Given the description of an element on the screen output the (x, y) to click on. 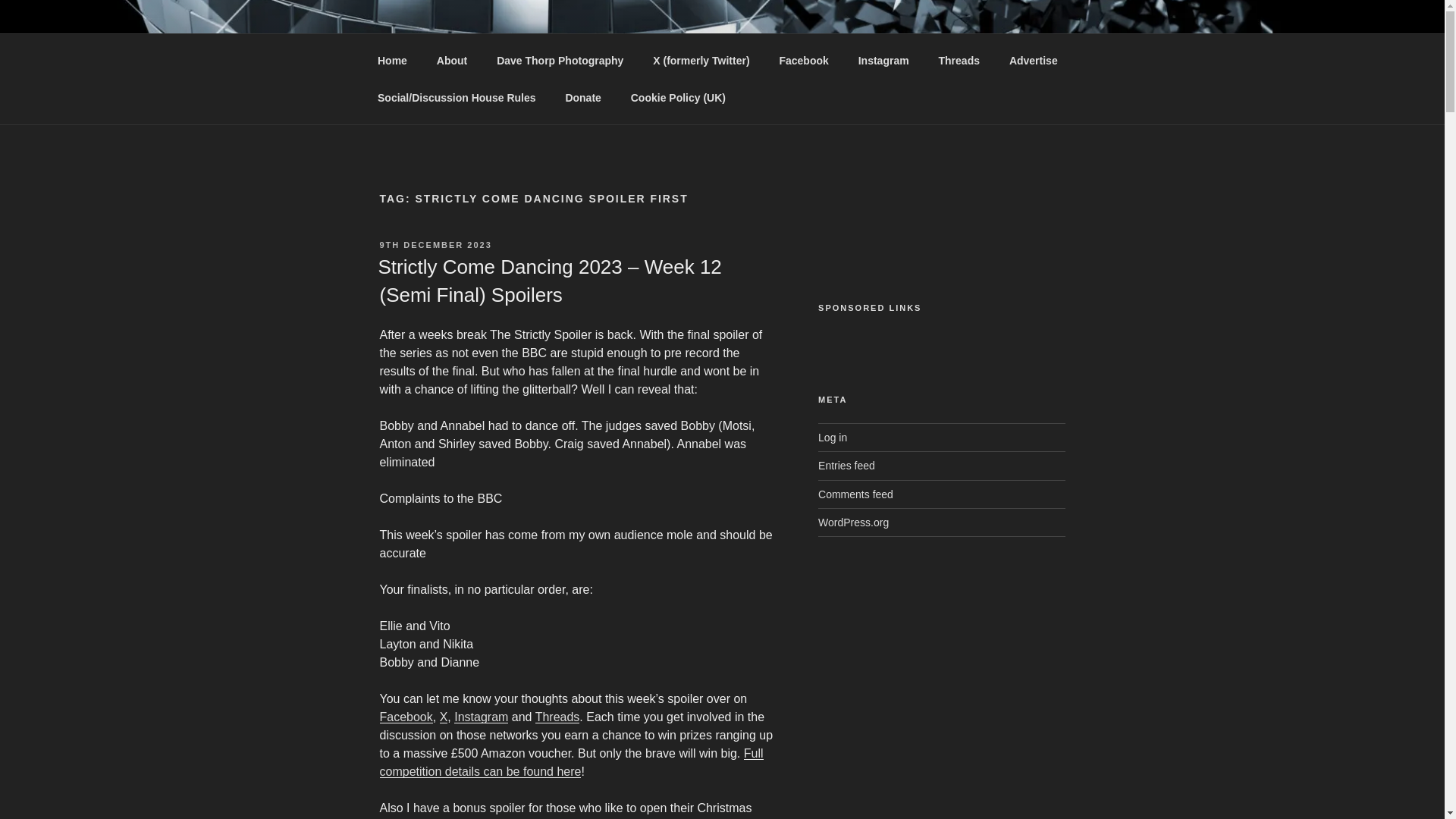
Threads (958, 60)
Instagram (481, 716)
Dave Thorp Photography (560, 60)
Full competition details can be found here (570, 762)
Facebook (405, 716)
About (451, 60)
Threads (557, 716)
Home (392, 60)
Donate (582, 97)
X (443, 716)
Facebook (803, 60)
Instagram (882, 60)
THE STRICTLY SPOILER (560, 52)
9TH DECEMBER 2023 (435, 244)
Advertise (1032, 60)
